Given the description of an element on the screen output the (x, y) to click on. 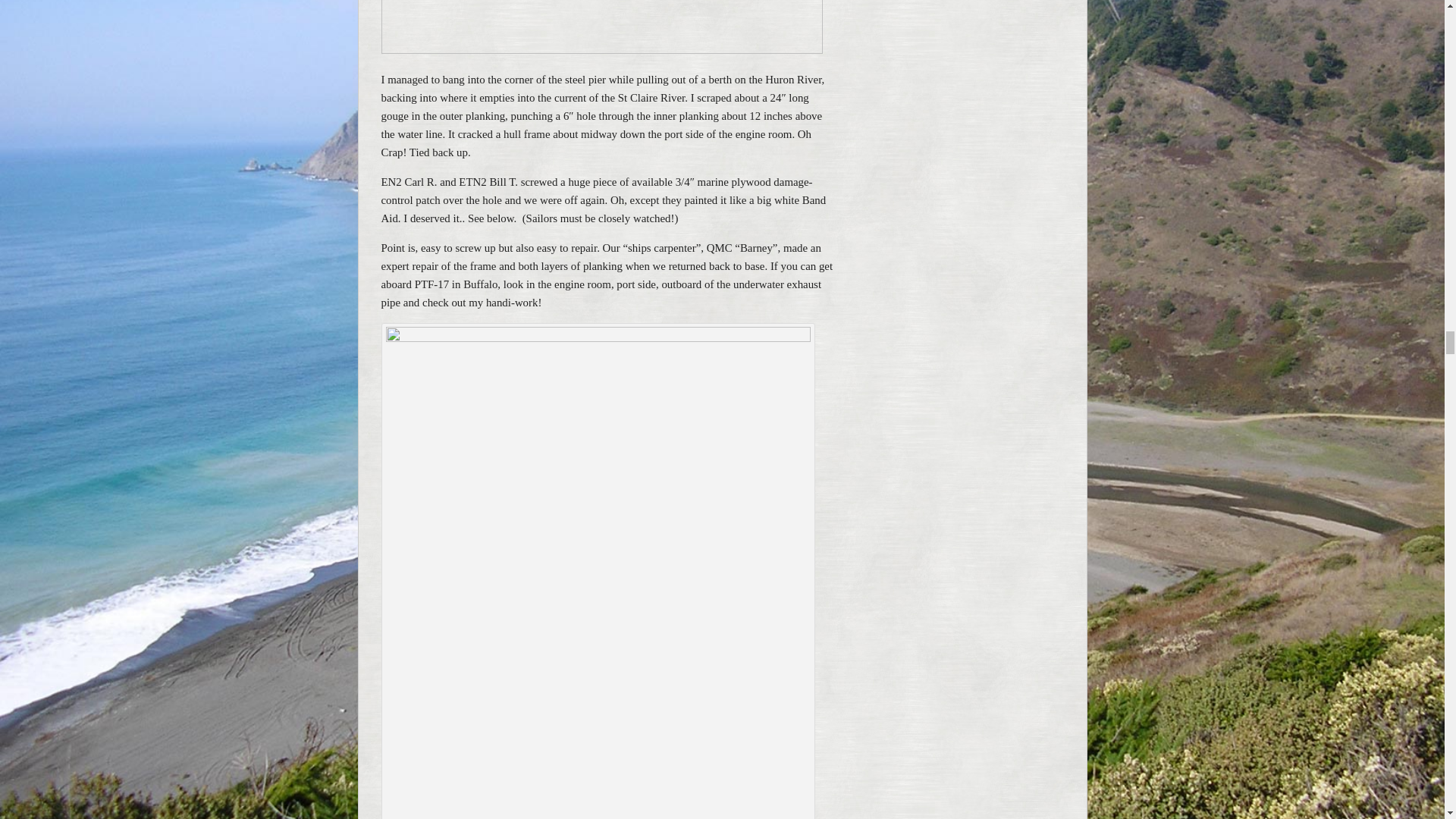
PTF-17 under construction (601, 27)
